Given the description of an element on the screen output the (x, y) to click on. 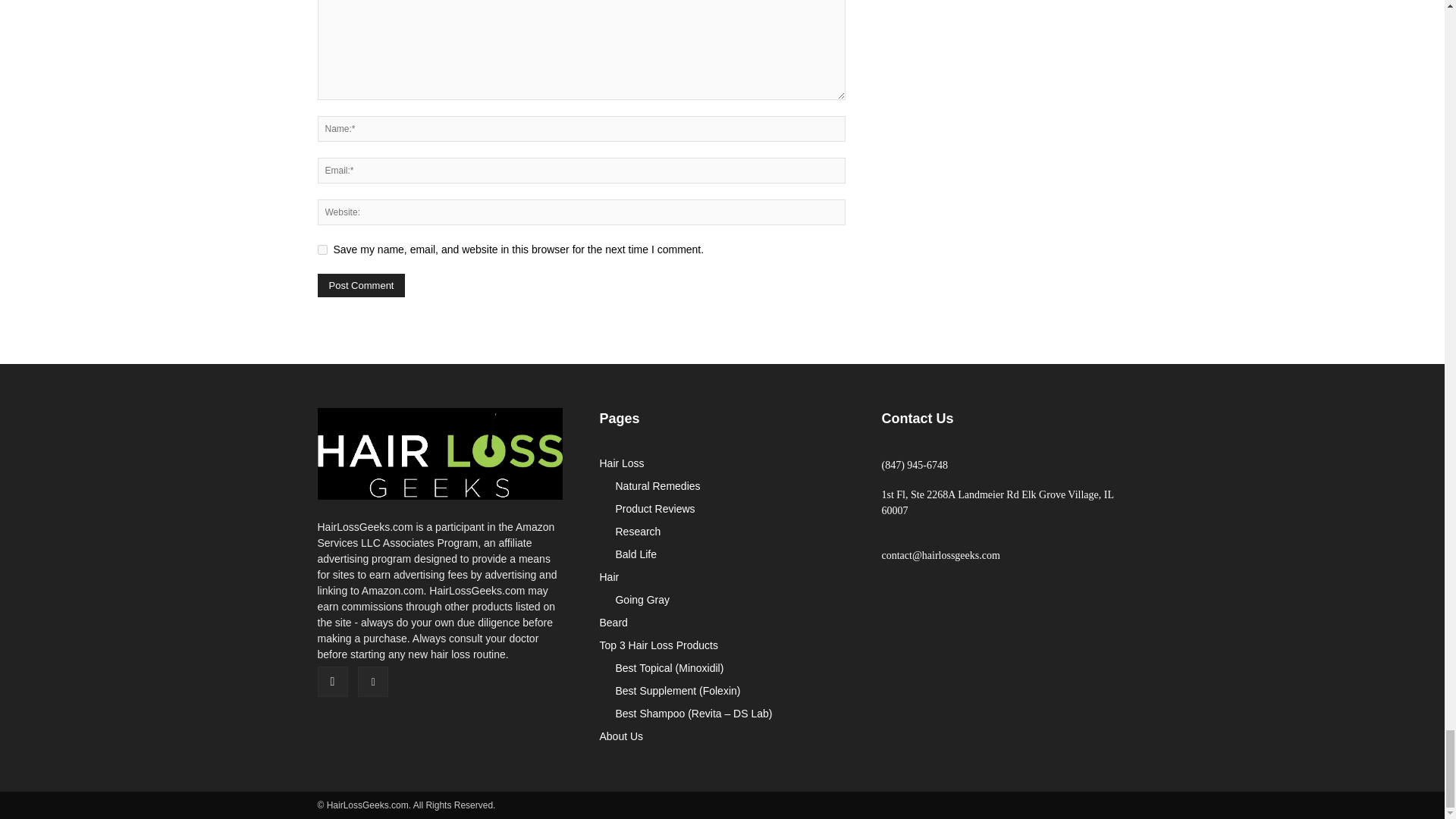
yes (321, 249)
Post Comment (360, 285)
